Given the description of an element on the screen output the (x, y) to click on. 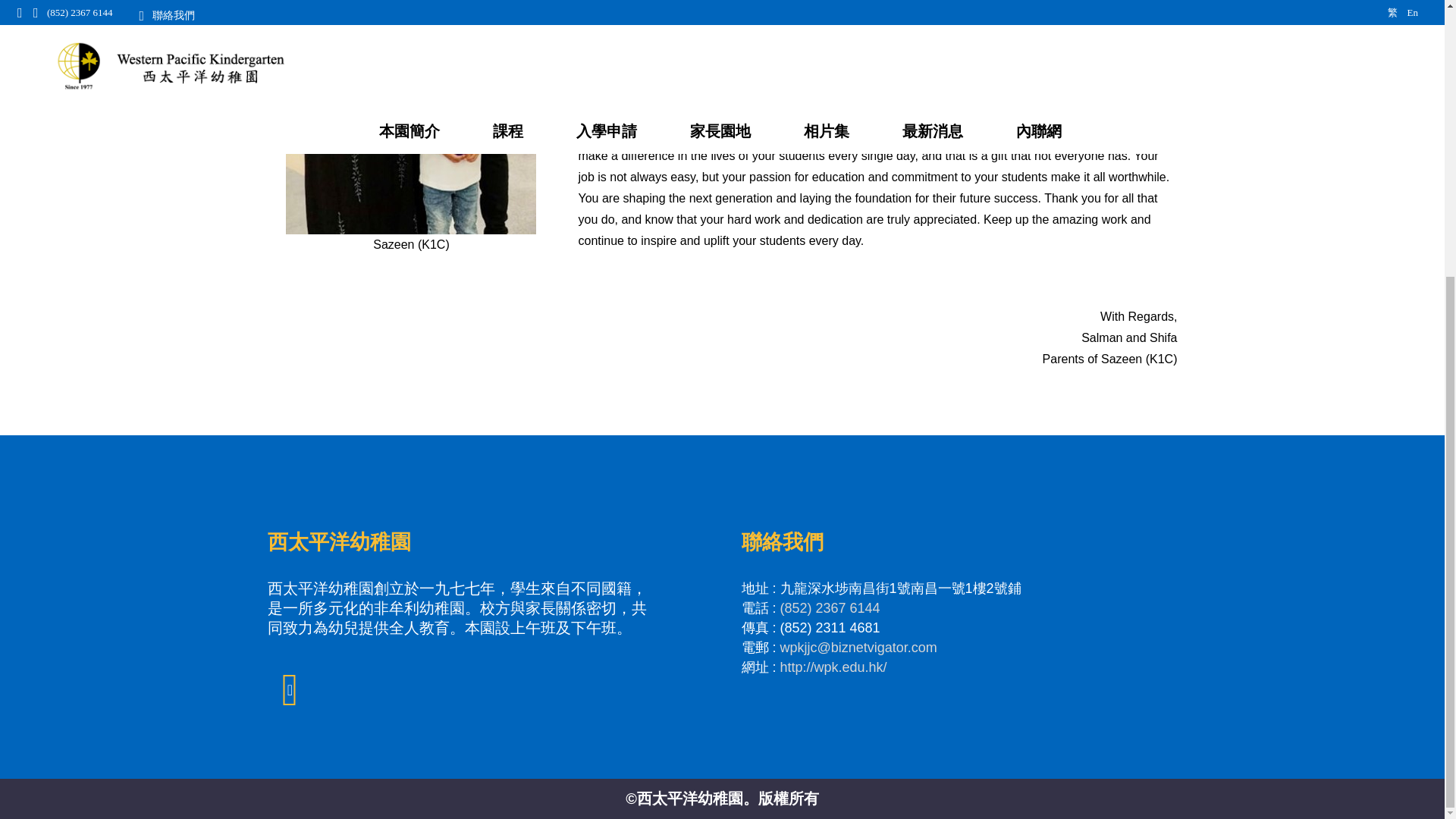
Sazeen (410, 117)
